Given the description of an element on the screen output the (x, y) to click on. 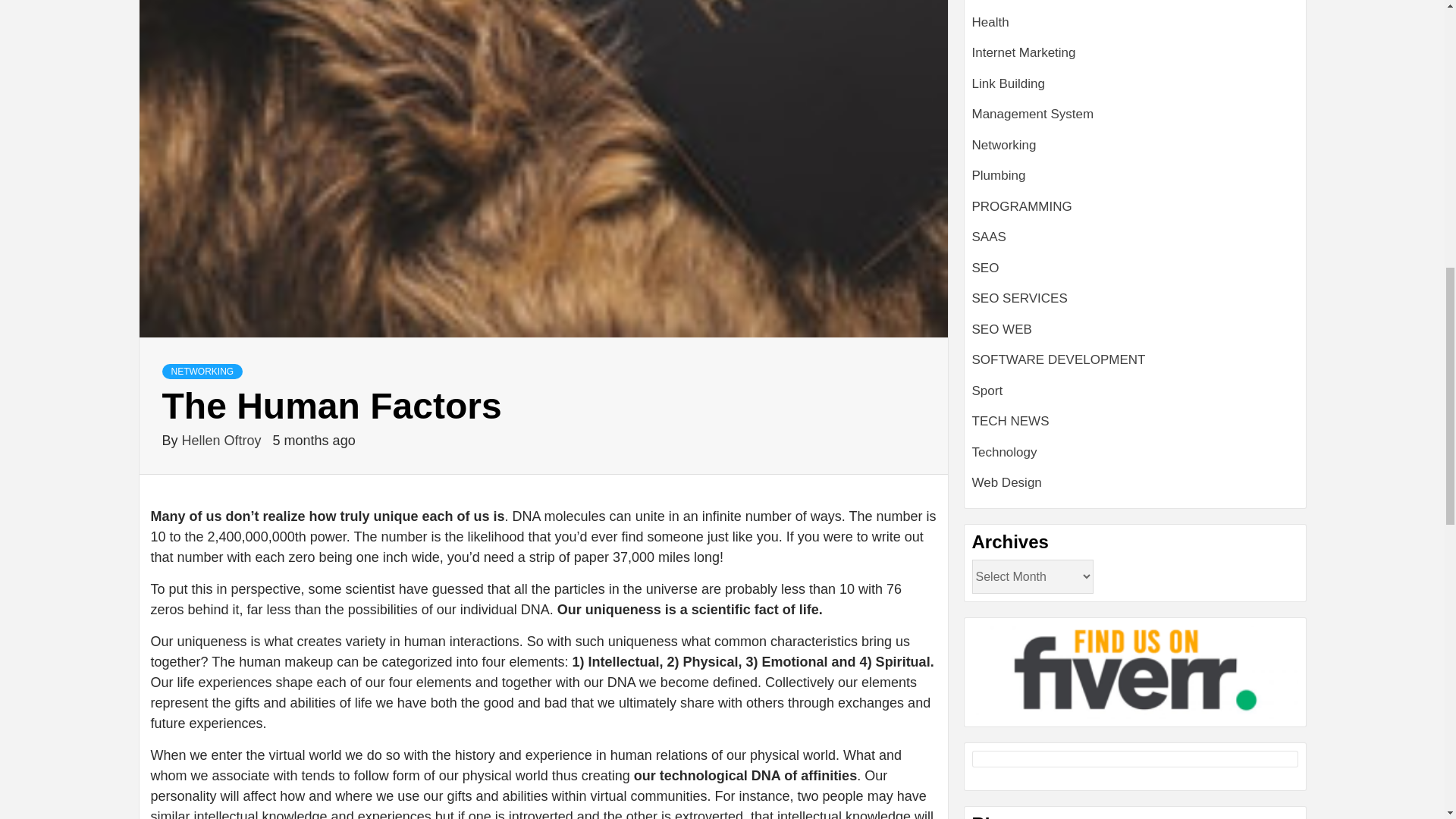
Management System (1033, 114)
Internet Marketing (1023, 52)
Hellen Oftroy (223, 440)
Networking (1004, 145)
Plumbing (999, 175)
NETWORKING (202, 371)
Health (990, 22)
Link Building (1008, 83)
